Given the description of an element on the screen output the (x, y) to click on. 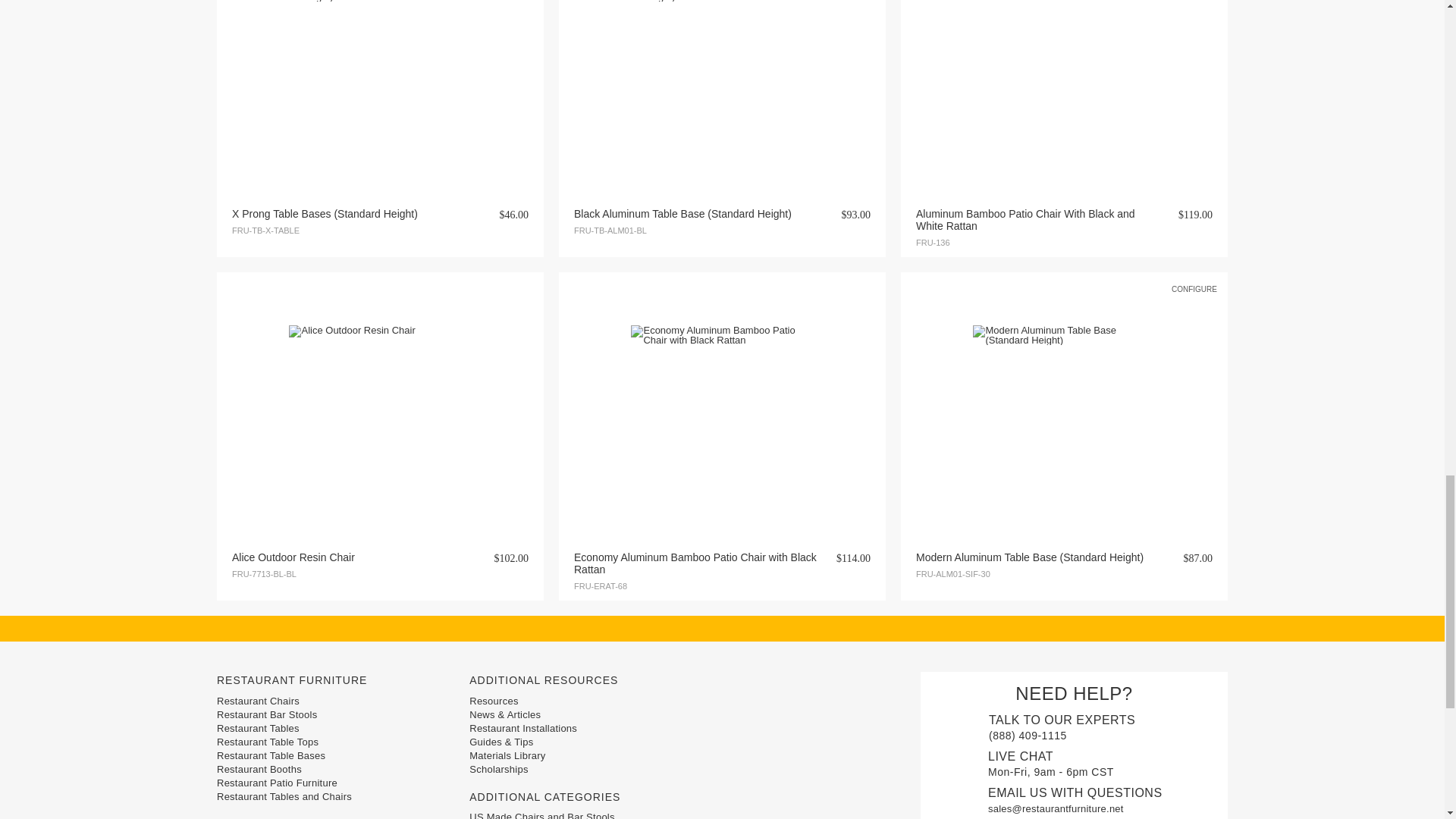
Economy Aluminum Bamboo Patio Chair with Black Rattan (721, 415)
Aluminum Bamboo Patio Chair With Black and White Rattan (1063, 81)
Alice Outdoor Resin Chair (379, 415)
